Given the description of an element on the screen output the (x, y) to click on. 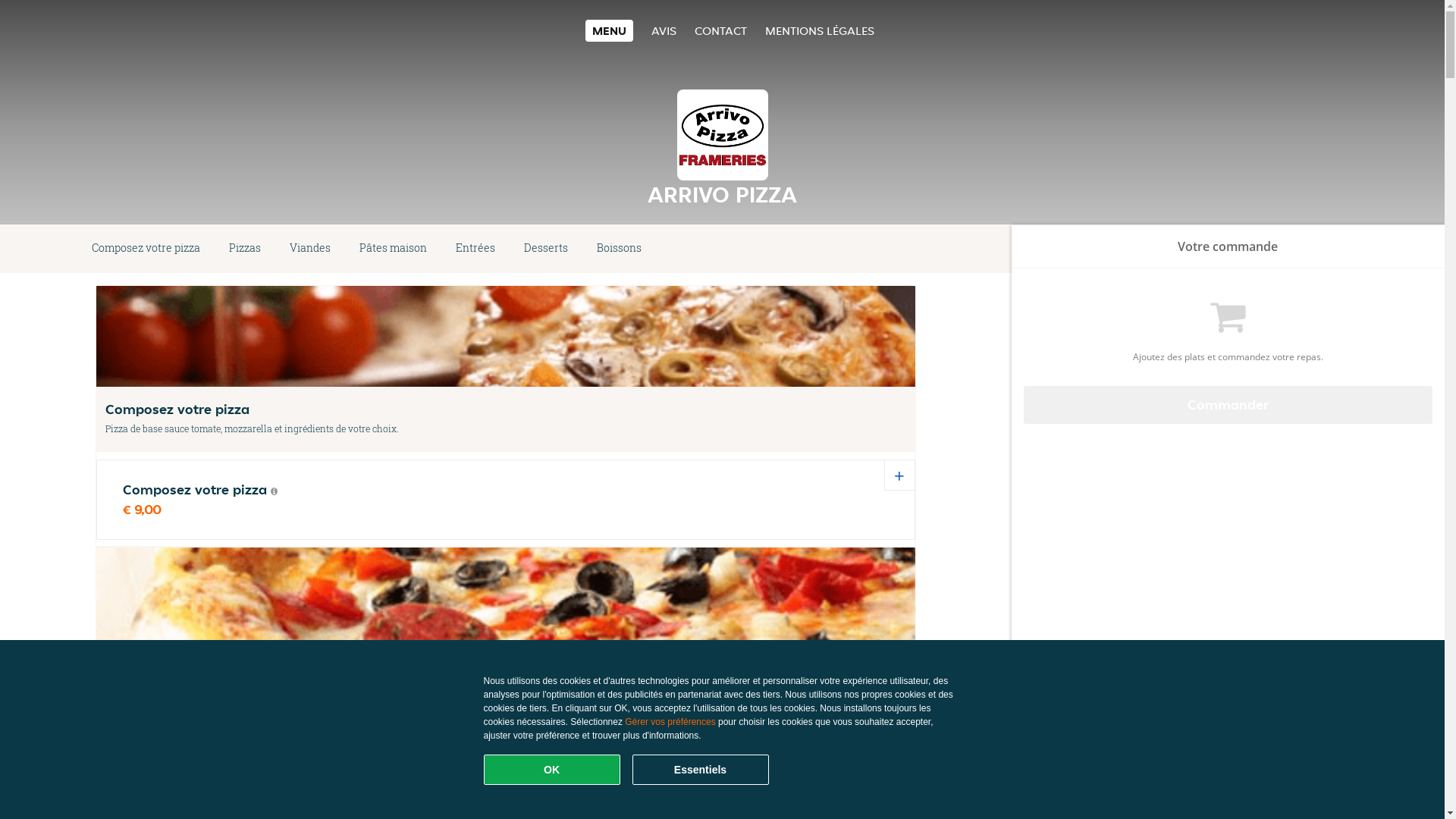
Plus d'informations sur le produit Element type: hover (241, 752)
Plus d'informations sur le produit Element type: hover (273, 491)
Essentiels Element type: text (700, 769)
Commander Element type: text (1228, 404)
Pizzas Element type: text (244, 248)
OK Element type: text (551, 769)
AVIS Element type: text (663, 30)
Viandes Element type: text (310, 248)
CONTACT Element type: text (720, 30)
Boissons Element type: text (618, 248)
Desserts Element type: text (545, 248)
Composez votre pizza Element type: text (145, 248)
MENU Element type: text (609, 30)
